Given the description of an element on the screen output the (x, y) to click on. 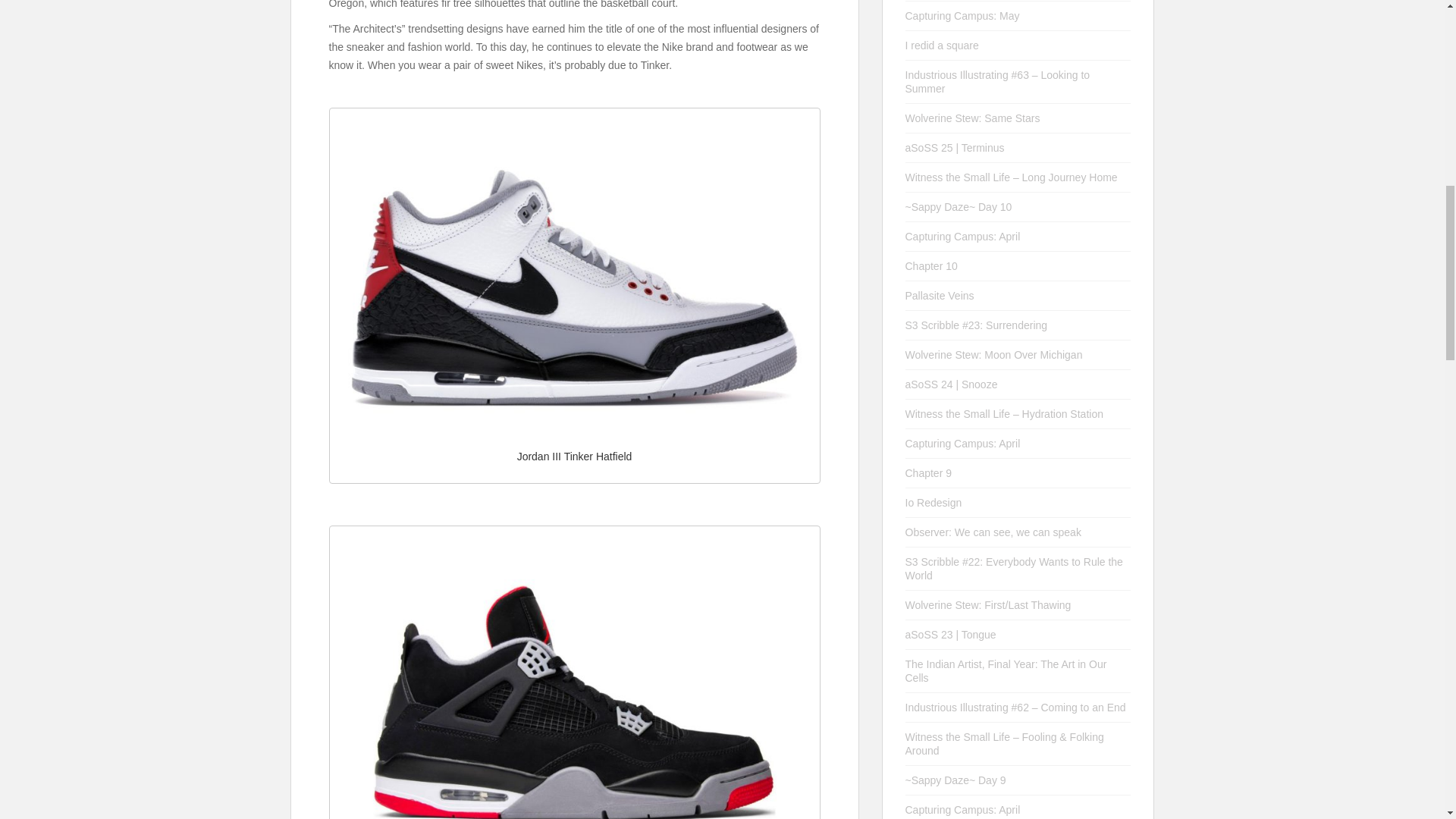
Capturing Campus: May (962, 15)
Capturing Campus: April (962, 236)
Chapter 10 (931, 265)
I redid a square (941, 45)
Wolverine Stew: Same Stars (973, 118)
Pallasite Veins (939, 295)
